Given the description of an element on the screen output the (x, y) to click on. 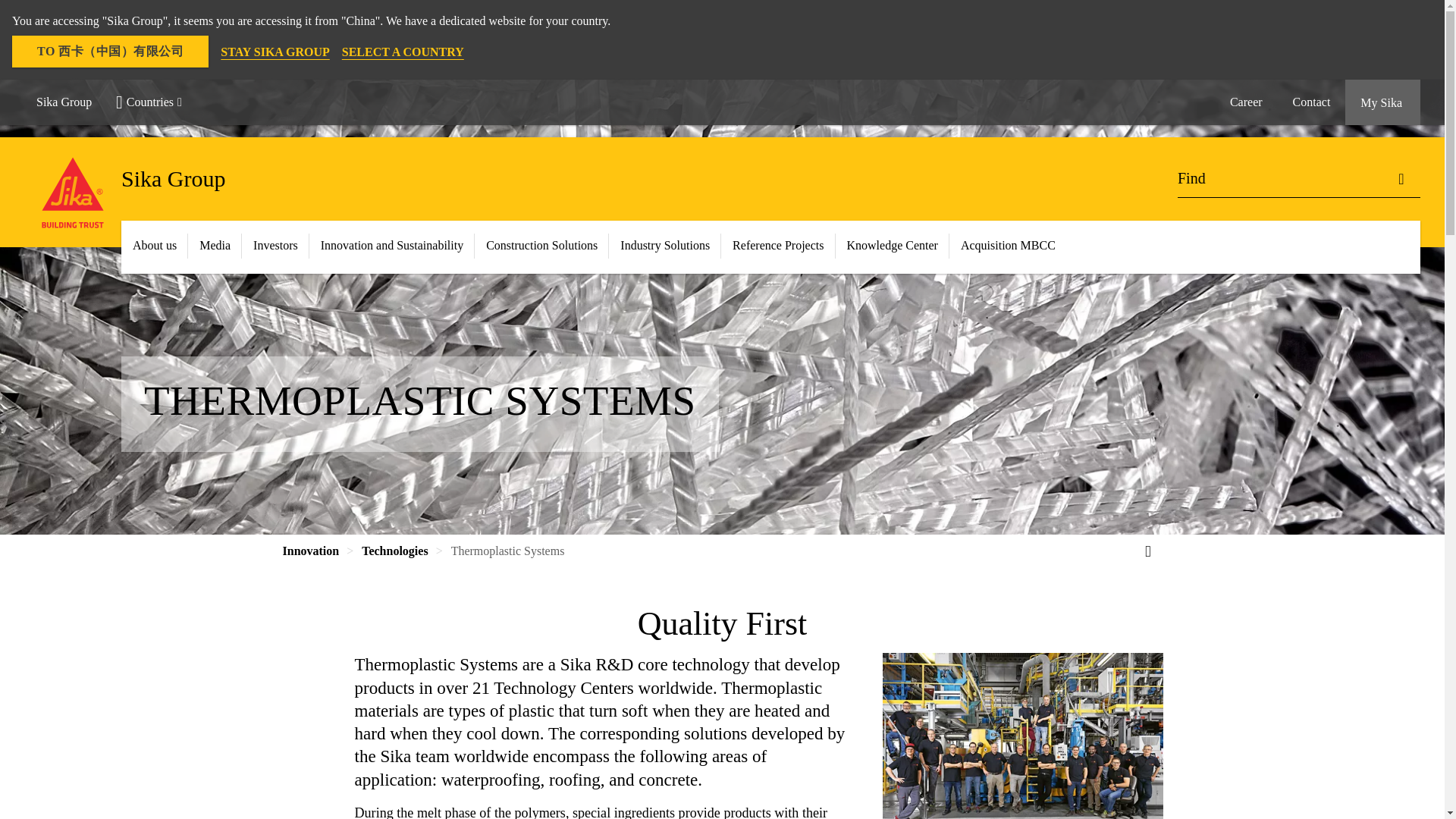
Career (1246, 102)
STAY SIKA GROUP (275, 51)
Contact (1311, 102)
Countries (155, 102)
SELECT A COUNTRY (403, 51)
Sika Logo (72, 192)
Sika Group (63, 102)
My Sika  (1383, 102)
